Given the description of an element on the screen output the (x, y) to click on. 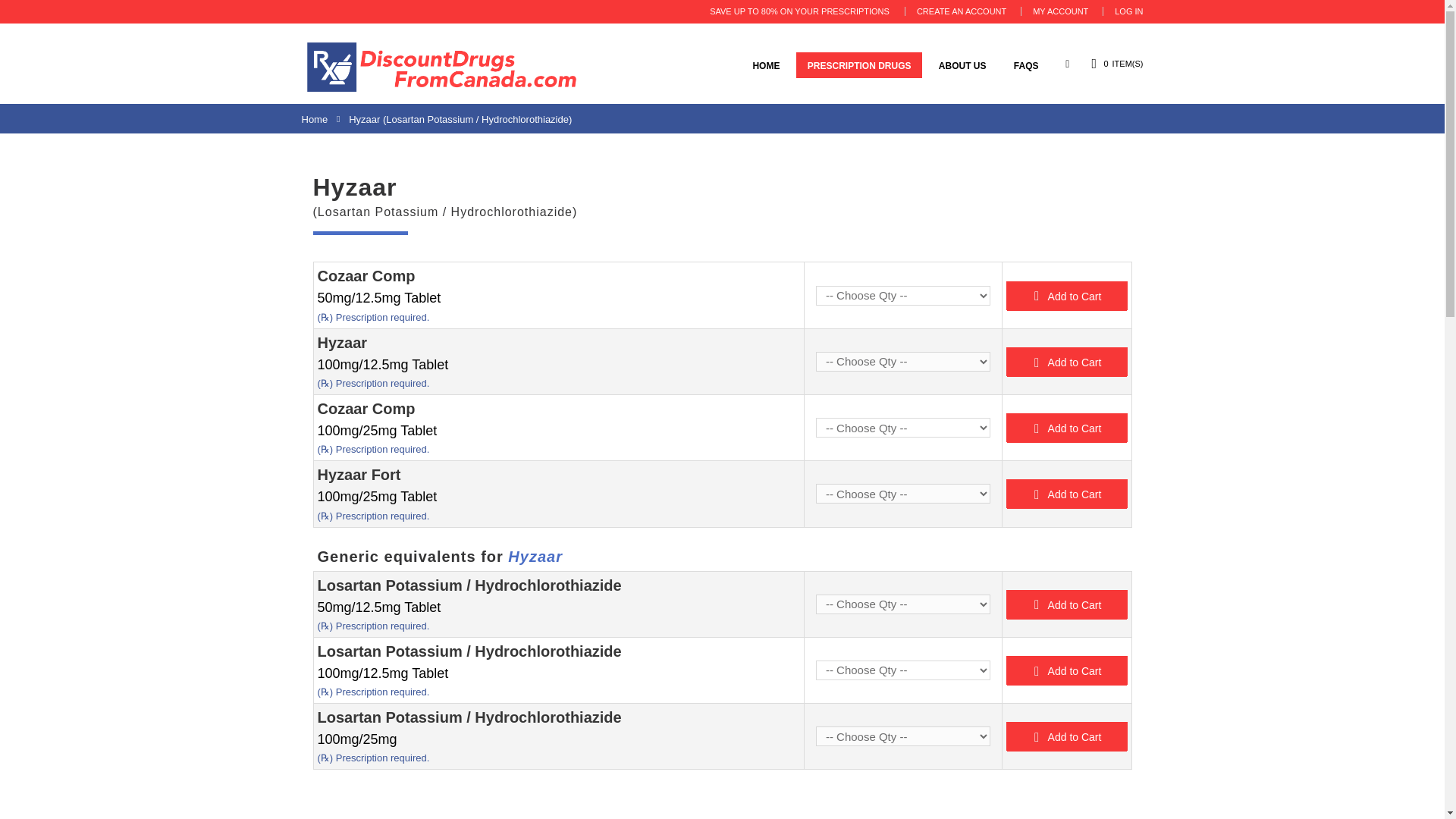
Add to Cart (1066, 493)
MY ACCOUNT (1059, 11)
PRESCRIPTION DRUGS (859, 64)
Add to Cart (1066, 295)
Add to Cart (1066, 427)
My Account (1059, 11)
Go to Home Page (315, 119)
FAQS (1026, 64)
Add to Cart (1066, 427)
Discount Drugs from Canada (440, 66)
Add to Cart (1066, 361)
CREATE AN ACCOUNT (961, 11)
LOG IN (1128, 11)
HOME (765, 64)
Add to Cart (1066, 361)
